Given the description of an element on the screen output the (x, y) to click on. 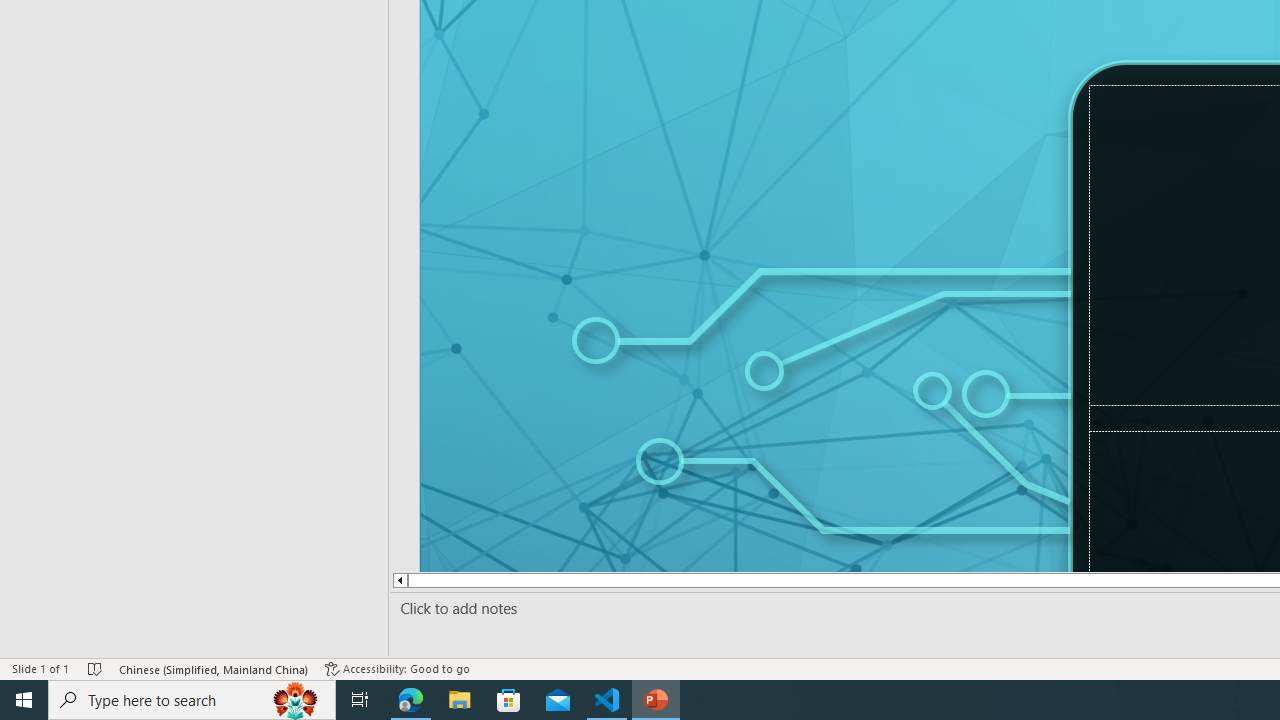
Accessibility Checker Accessibility: Good to go (397, 668)
Decorative (1044, 402)
